Given the description of an element on the screen output the (x, y) to click on. 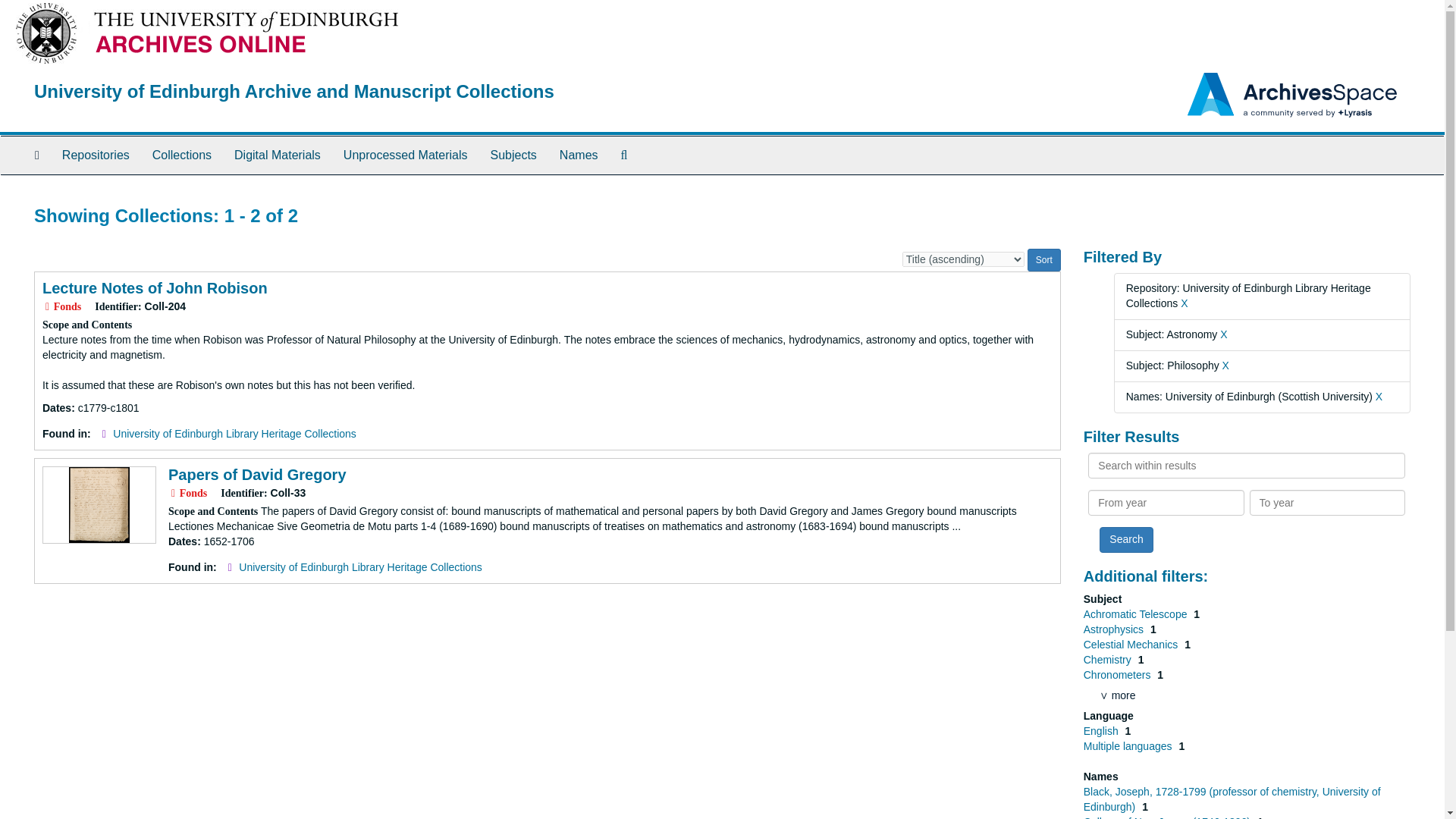
Sort (1044, 259)
Collections (181, 155)
Filter By 'Chronometers' (1118, 674)
Search (1126, 539)
Subjects (513, 155)
Filter By 'Achromatic Telescope' (1137, 613)
Archives Space at Edinburgh (293, 91)
Papers of David Gregory (257, 474)
Filter By 'Astrophysics' (1115, 629)
Chemistry (1108, 659)
University of Edinburgh Library Heritage Collections (359, 567)
Repositories (95, 155)
Celestial Mechanics (1131, 644)
Unprocessed Materials (405, 155)
University of Edinburgh Archive and Manuscript Collections (293, 91)
